Given the description of an element on the screen output the (x, y) to click on. 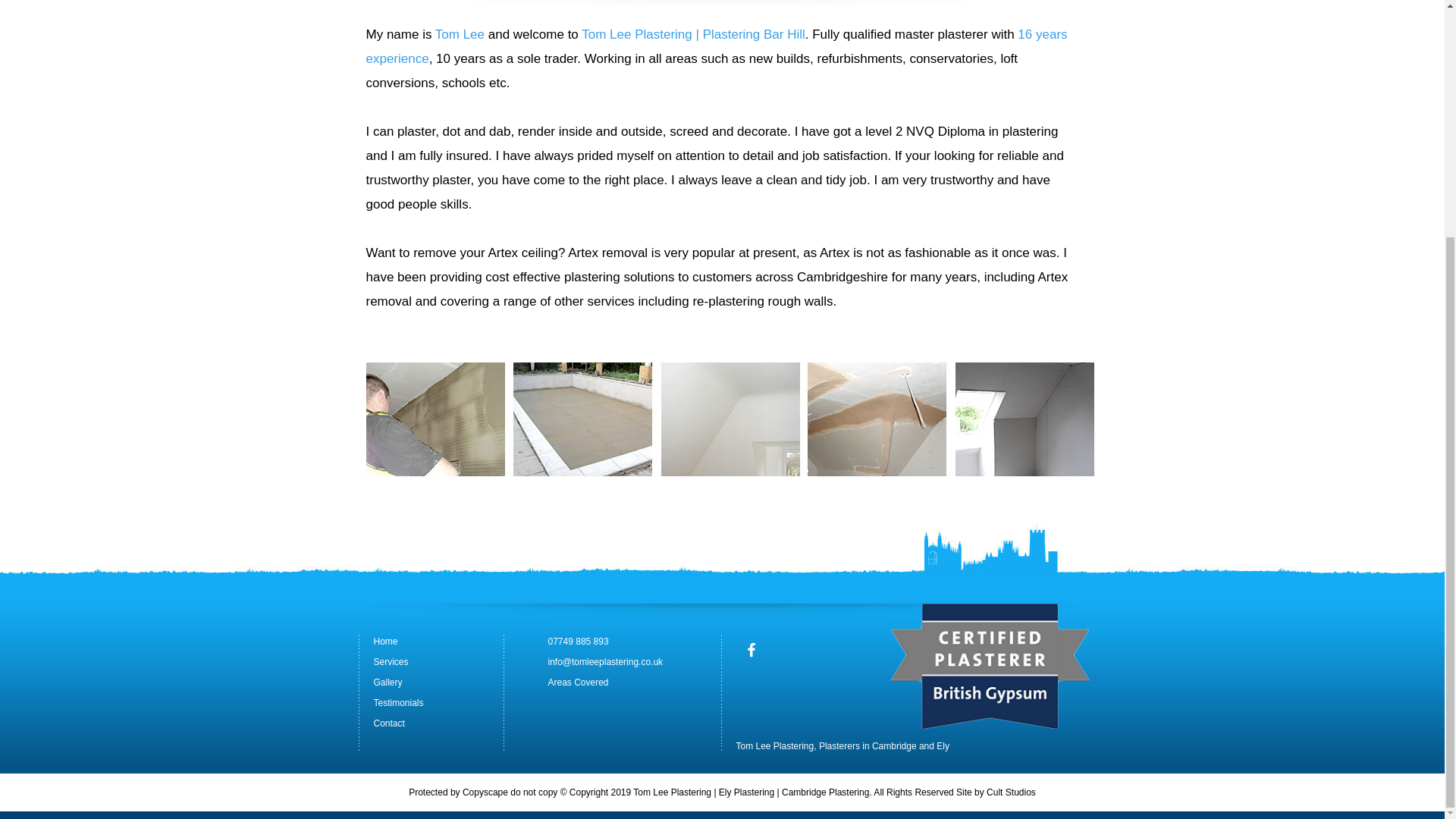
Contact (388, 723)
Gallery (386, 682)
Areas Covered (577, 682)
Services (389, 661)
Home (384, 641)
Testimonials (397, 702)
Site by Cult Studios (995, 792)
